Given the description of an element on the screen output the (x, y) to click on. 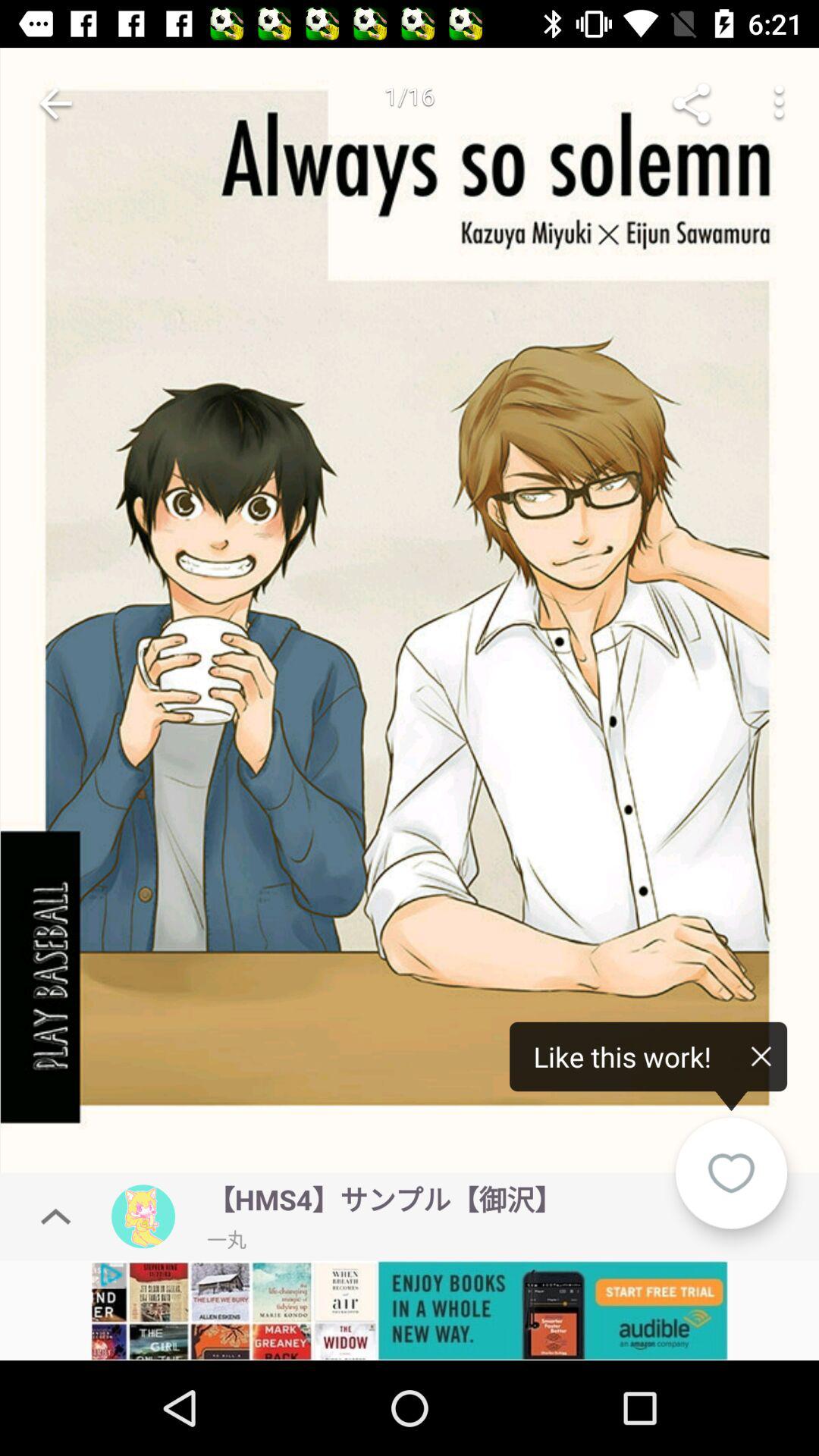
image is open (409, 614)
